Given the description of an element on the screen output the (x, y) to click on. 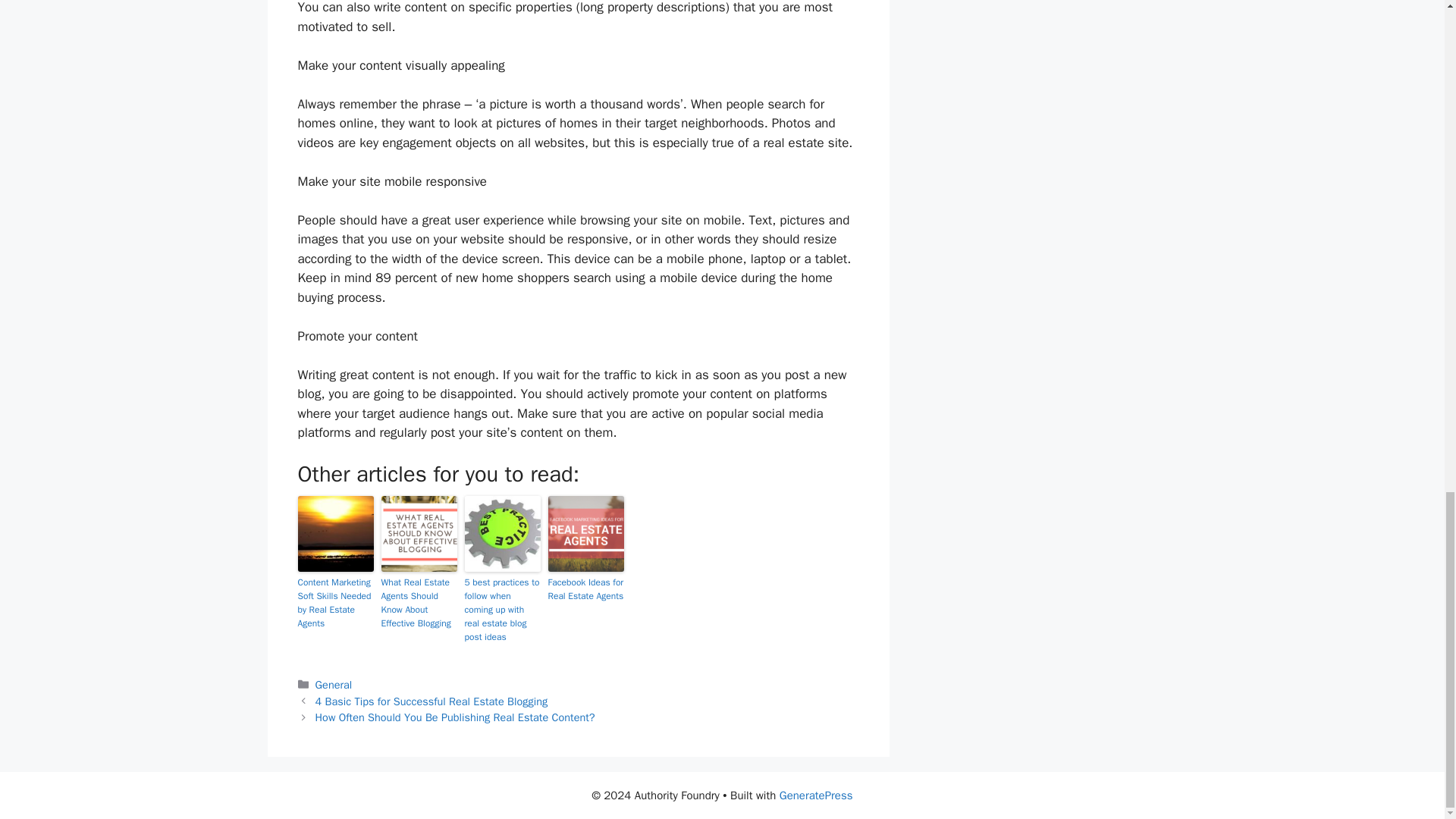
4 Basic Tips for Successful Real Estate Blogging (431, 701)
Facebook Ideas for Real Estate Agents (585, 588)
Previous (431, 701)
Content Marketing Soft Skills Needed by Real Estate Agents (334, 602)
What Real Estate Agents Should Know About Effective Blogging (418, 602)
General (333, 684)
GeneratePress (815, 795)
Next (455, 716)
How Often Should You Be Publishing Real Estate Content? (455, 716)
